Given the description of an element on the screen output the (x, y) to click on. 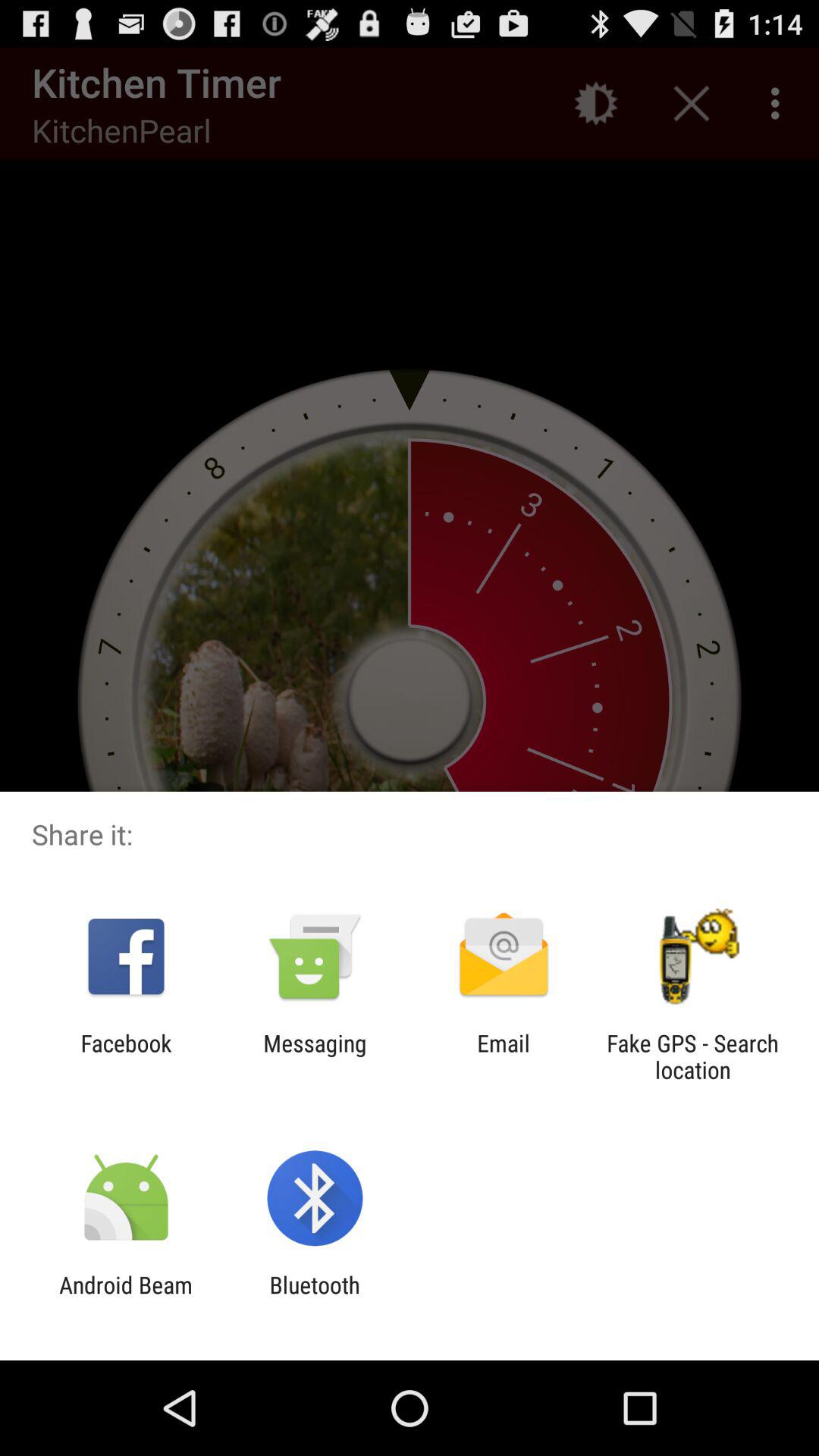
open facebook icon (125, 1056)
